Given the description of an element on the screen output the (x, y) to click on. 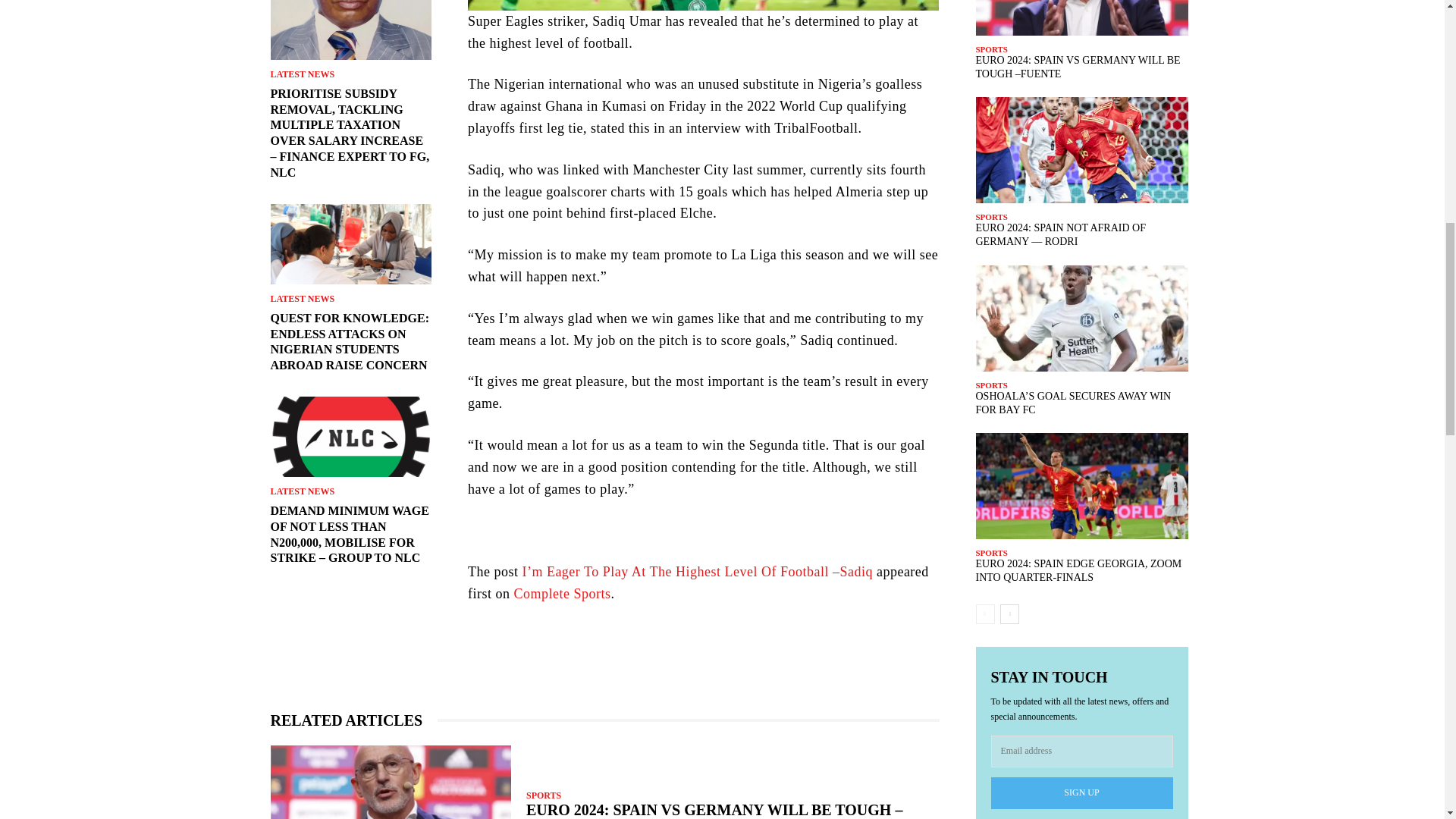
LATEST NEWS (301, 73)
